Given the description of an element on the screen output the (x, y) to click on. 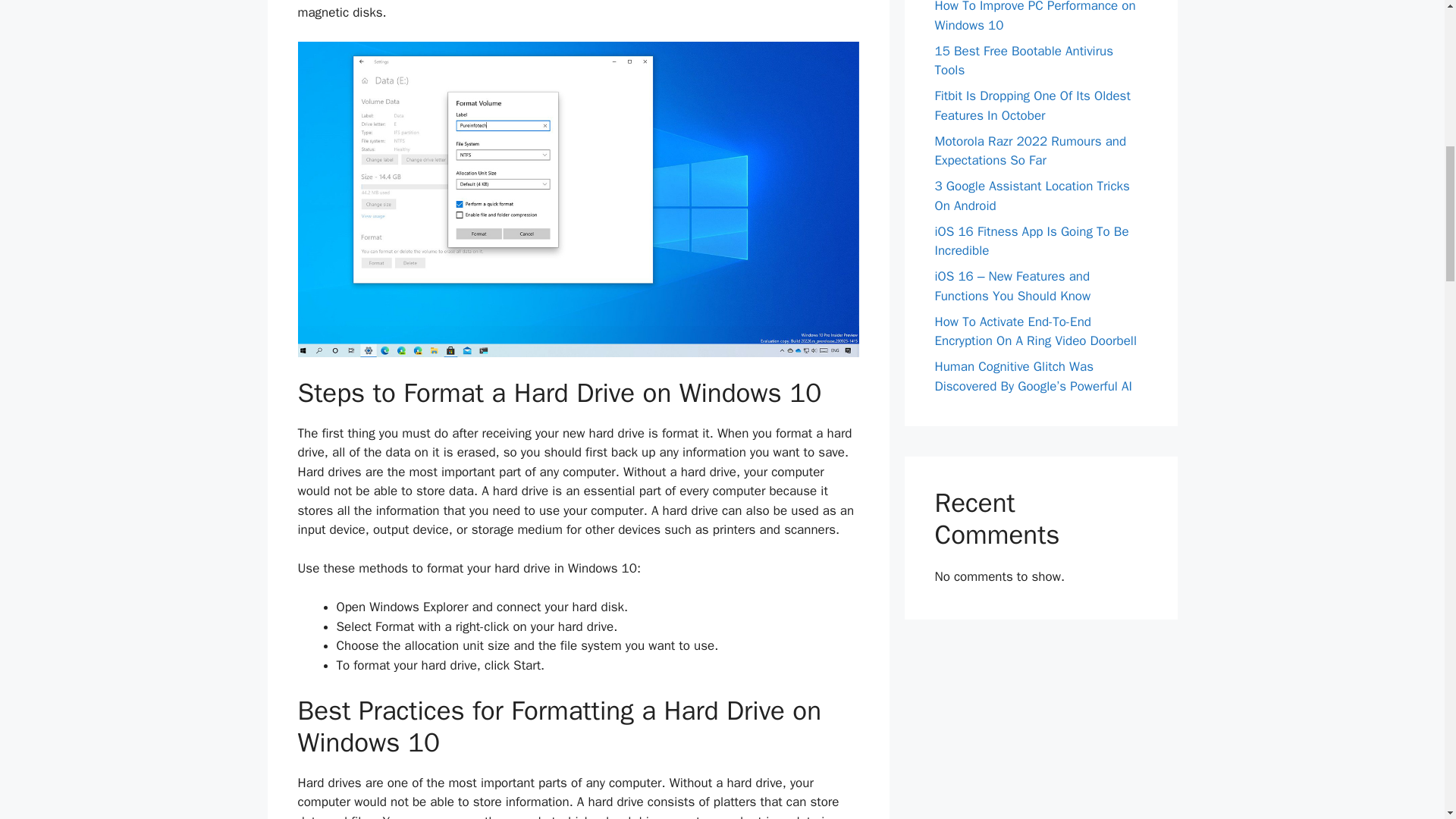
Fitbit Is Dropping One Of Its Oldest Features In October (1031, 105)
15 Best Free Bootable Antivirus Tools (1023, 60)
How To Improve PC Performance on Windows 10 (1034, 16)
